Given the description of an element on the screen output the (x, y) to click on. 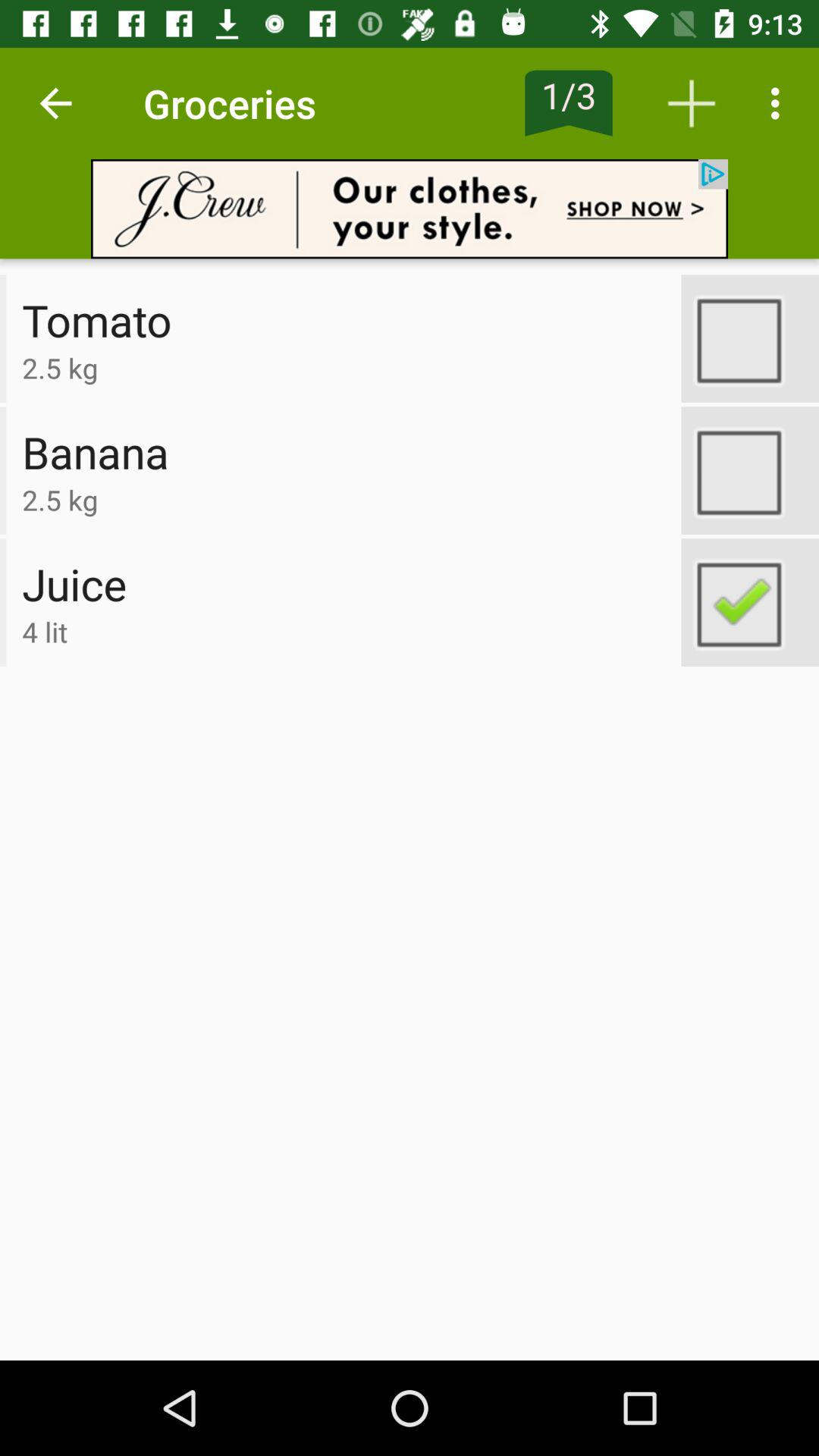
go to advertisement (409, 208)
